Given the description of an element on the screen output the (x, y) to click on. 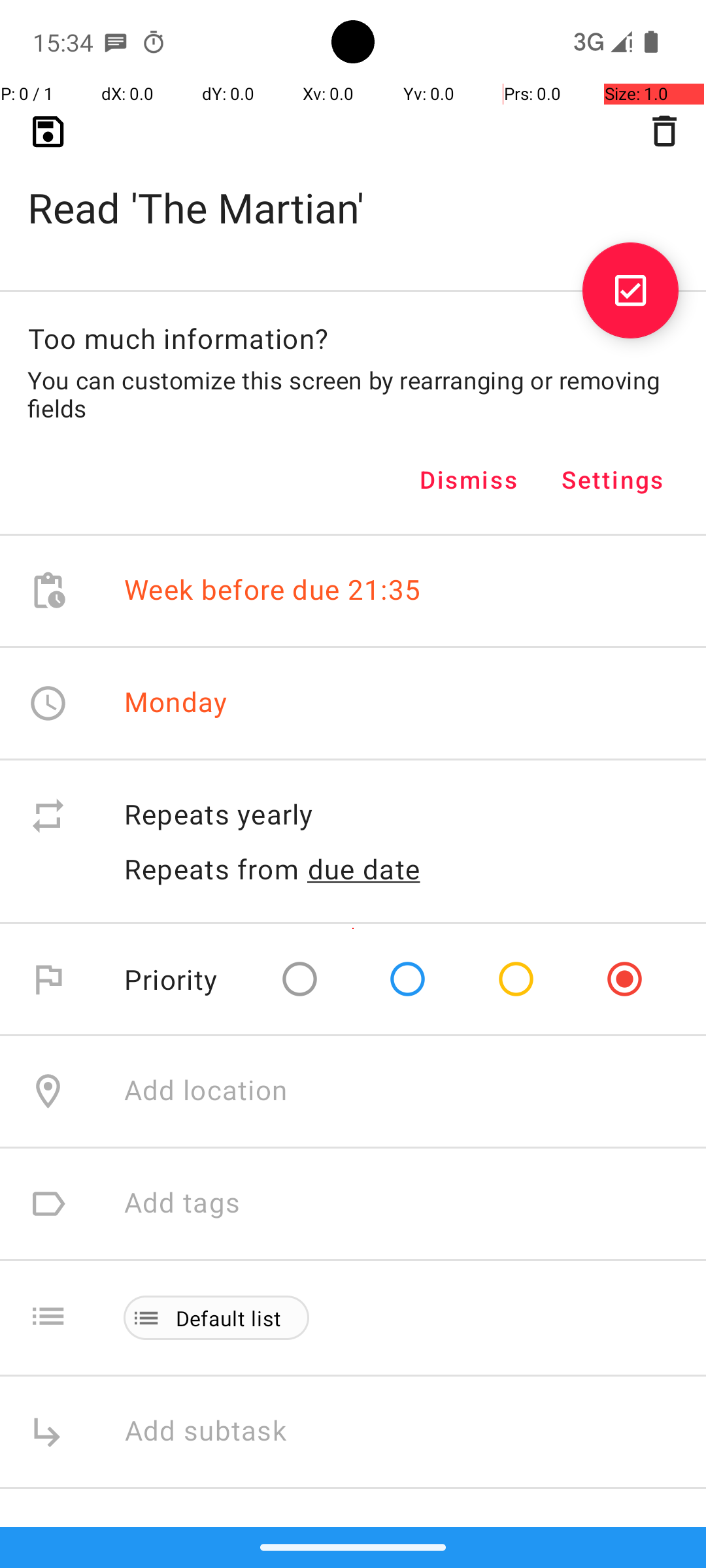
Week before due 21:35 Element type: android.widget.TextView (272, 590)
Repeats yearly Element type: android.widget.TextView (400, 815)
due date Element type: android.widget.TextView (363, 868)
